Given the description of an element on the screen output the (x, y) to click on. 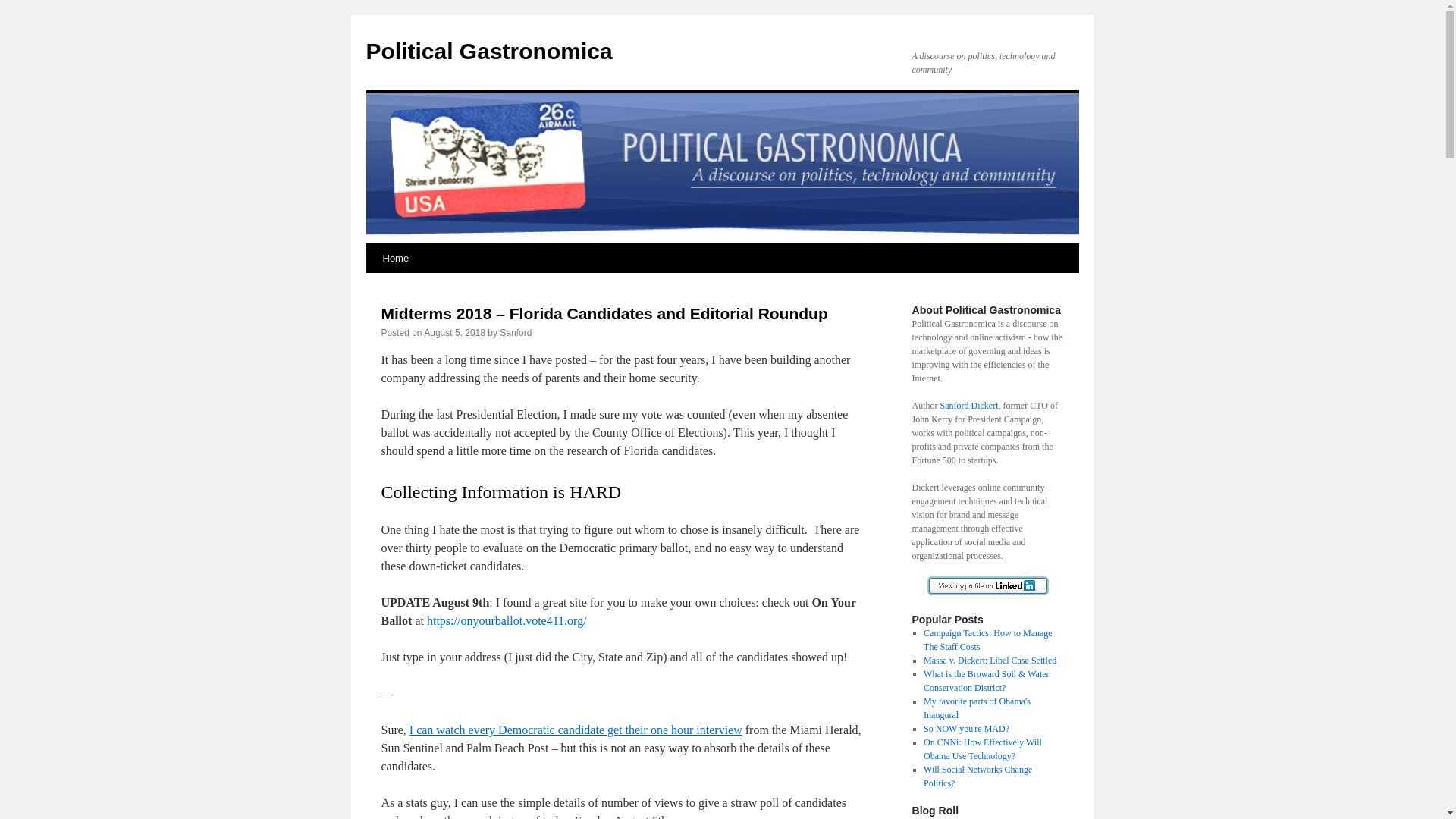
12:49 pm (453, 332)
Political Gastronomica (488, 50)
Home (395, 258)
View all posts by Sanford (515, 332)
August 5, 2018 (453, 332)
Sanford (515, 332)
